Given the description of an element on the screen output the (x, y) to click on. 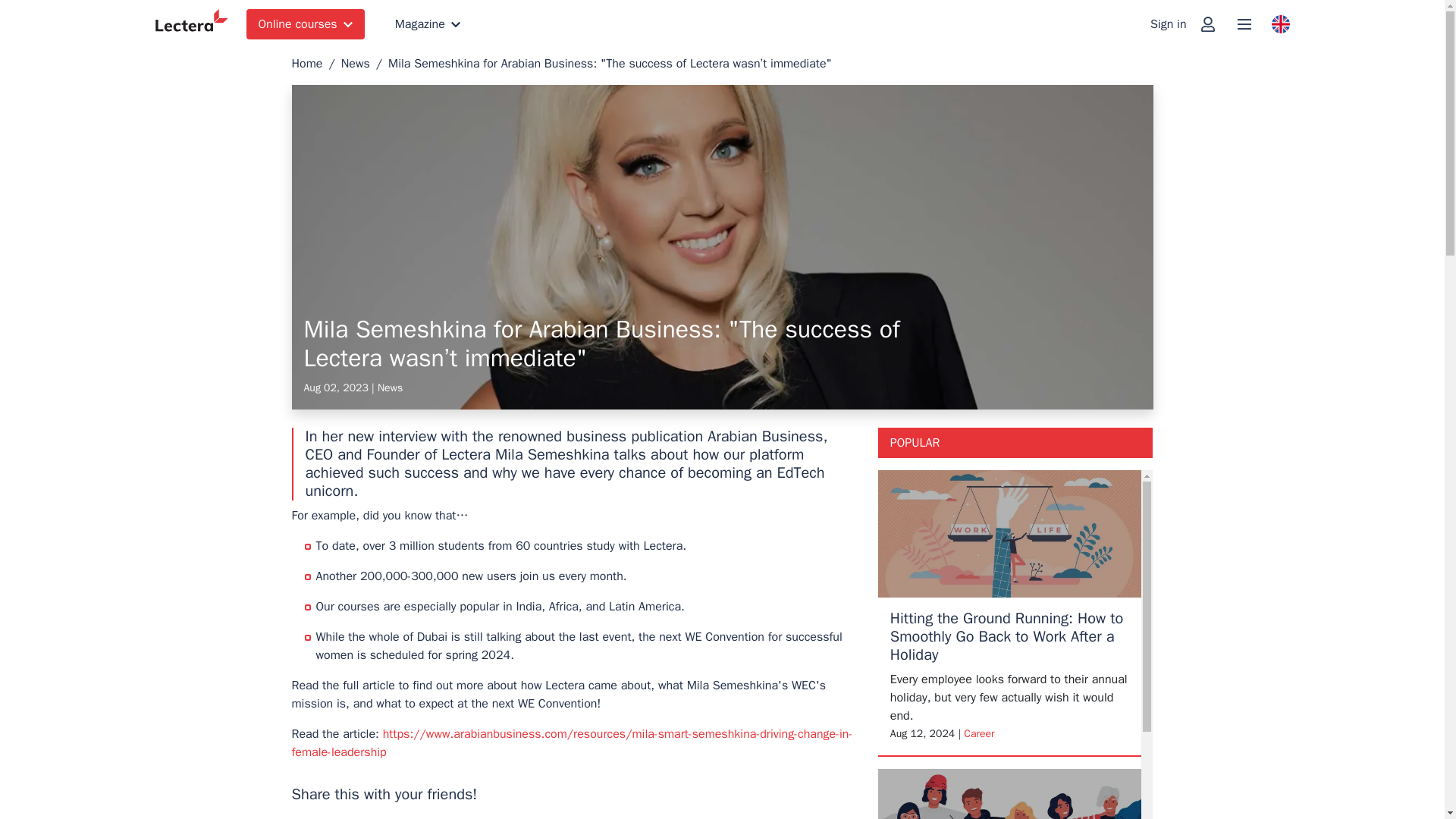
Aug 12, 2024 (922, 733)
Sign in (1183, 24)
Aug 02, 2023 (335, 387)
